Given the description of an element on the screen output the (x, y) to click on. 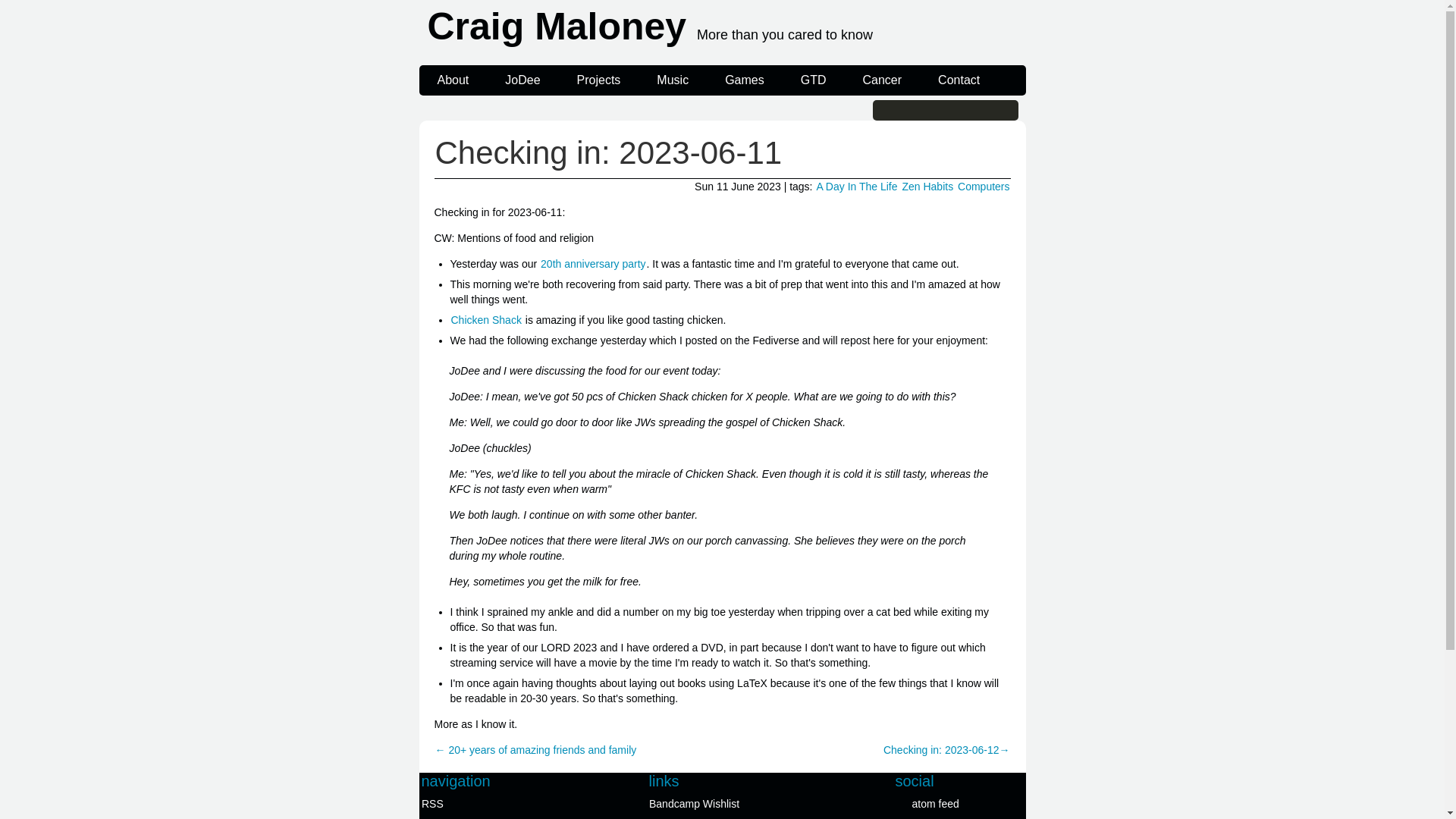
Permalink to Checking in: 2023-06-11 (608, 152)
Contact (958, 80)
Cancer (882, 80)
A Day In The Life (856, 186)
Archives (489, 816)
Computers (983, 186)
Drivethru RPG Wishlist (716, 816)
RSS (489, 803)
Zen Habits (927, 186)
JoDee (521, 80)
Craig Maloney More than you cared to know (725, 30)
Bandcamp Wishlist (716, 803)
Projects (599, 80)
Checking in: 2023-06-11 (608, 152)
20th anniversary party (593, 263)
